Given the description of an element on the screen output the (x, y) to click on. 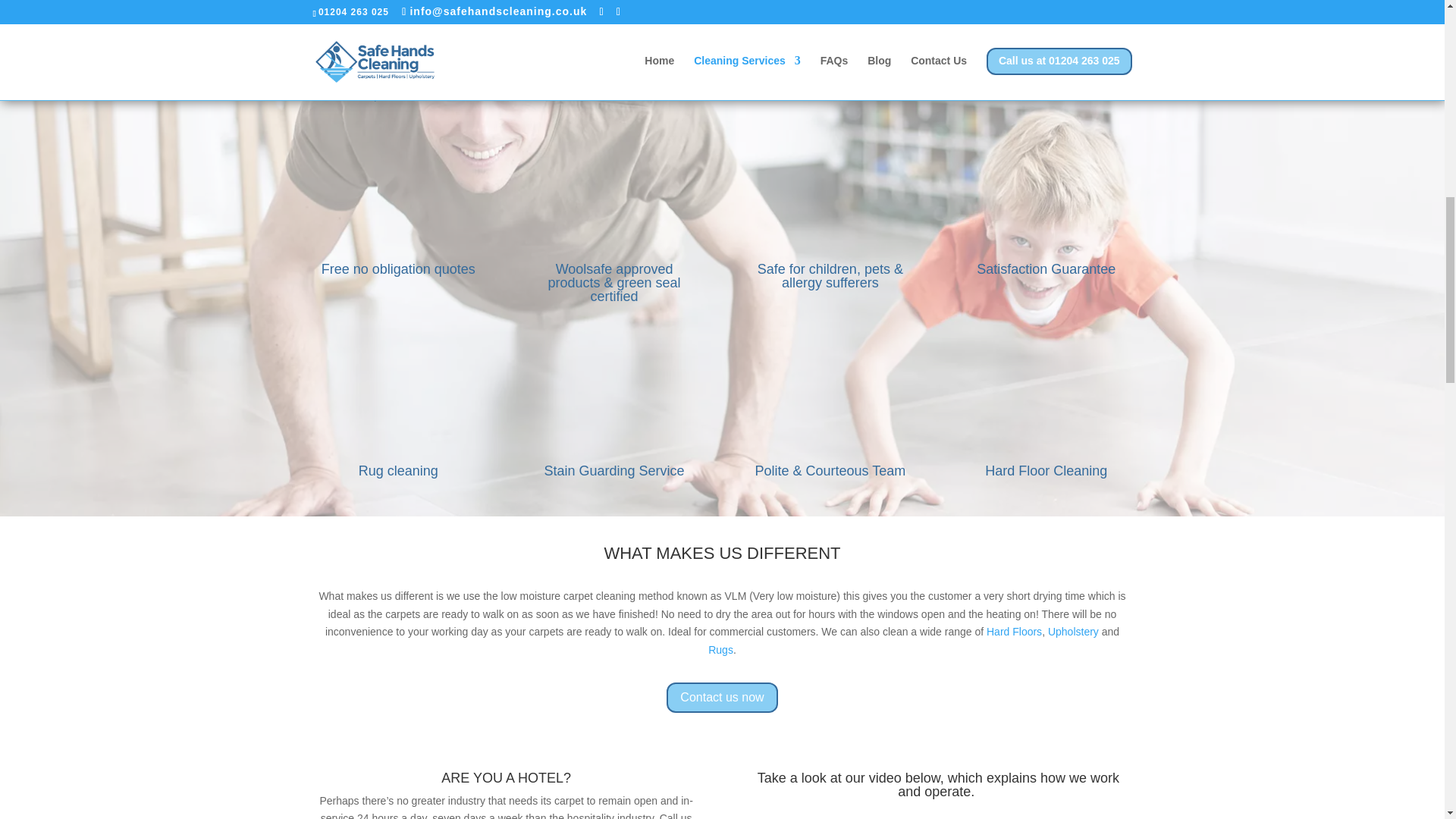
Rugs (720, 649)
Contact us now (721, 697)
Upholstery (1073, 631)
Hard Floors (1014, 631)
